Given the description of an element on the screen output the (x, y) to click on. 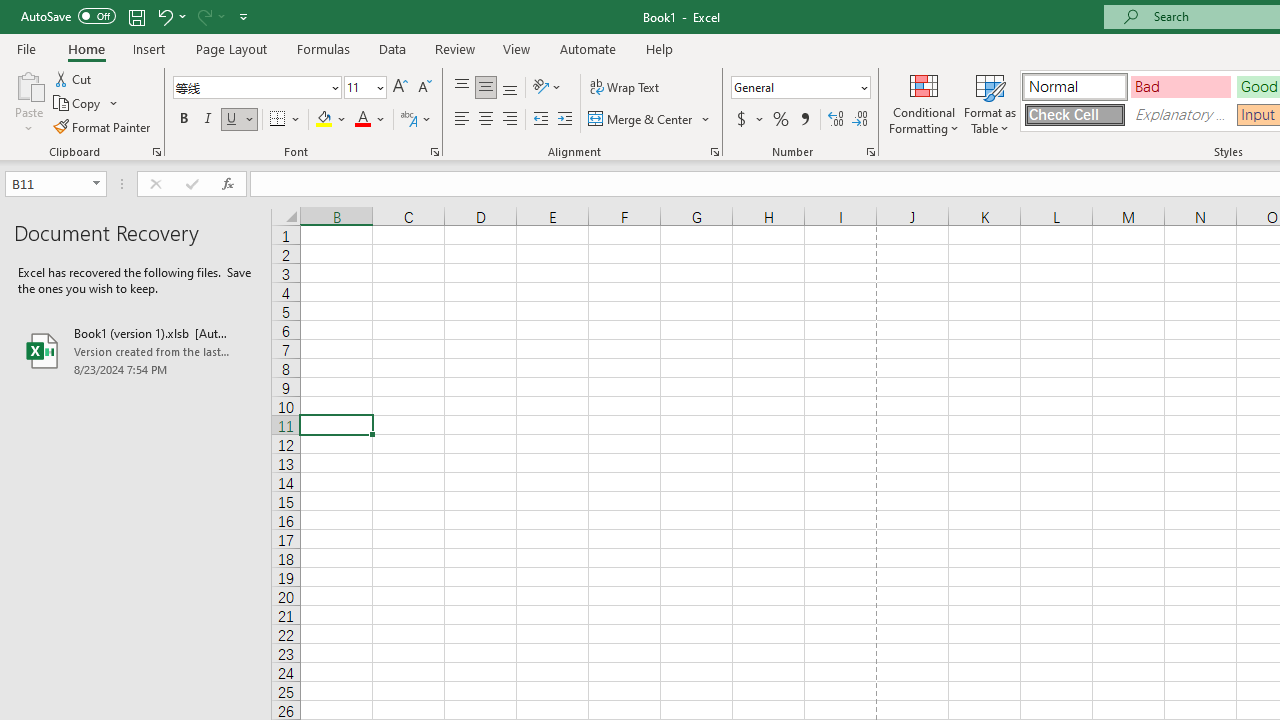
Font Size (358, 87)
Customize Quick Access Toolbar (244, 15)
Paste (28, 84)
Percent Style (781, 119)
Font Color (370, 119)
Copy (85, 103)
Automate (588, 48)
More Options (760, 119)
Page Layout (230, 48)
Explanatory Text (1180, 114)
Bottom Border (278, 119)
Center (485, 119)
Data (392, 48)
Conditional Formatting (924, 102)
